Given the description of an element on the screen output the (x, y) to click on. 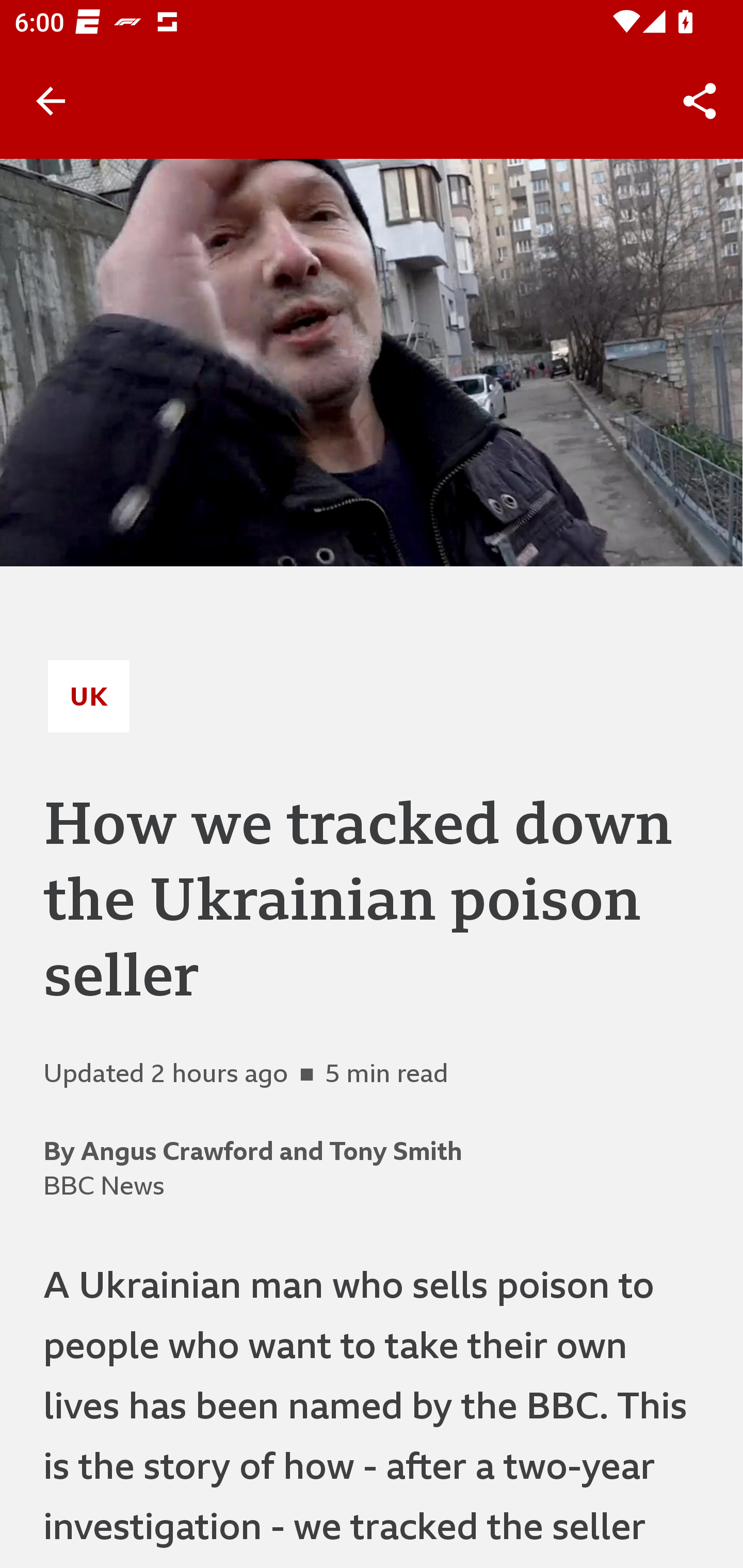
Back (50, 101)
Share (699, 101)
UK (88, 696)
